Given the description of an element on the screen output the (x, y) to click on. 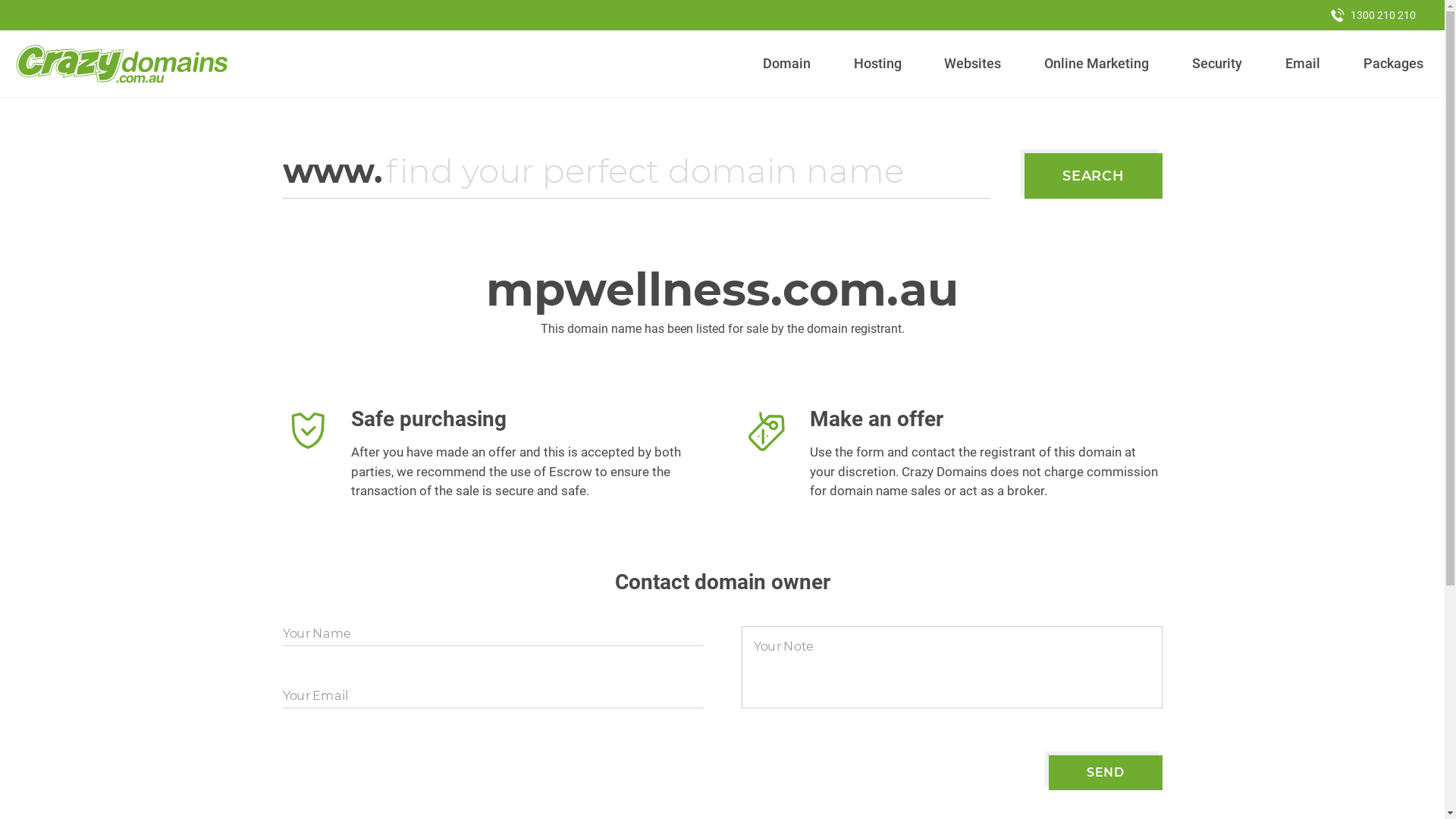
Packages Element type: text (1392, 63)
Online Marketing Element type: text (1096, 63)
Security Element type: text (1217, 63)
SEARCH Element type: text (1092, 175)
Hosting Element type: text (877, 63)
SEND Element type: text (1105, 772)
1300 210 210 Element type: text (1373, 15)
Domain Element type: text (786, 63)
Email Element type: text (1302, 63)
Websites Element type: text (972, 63)
